Given the description of an element on the screen output the (x, y) to click on. 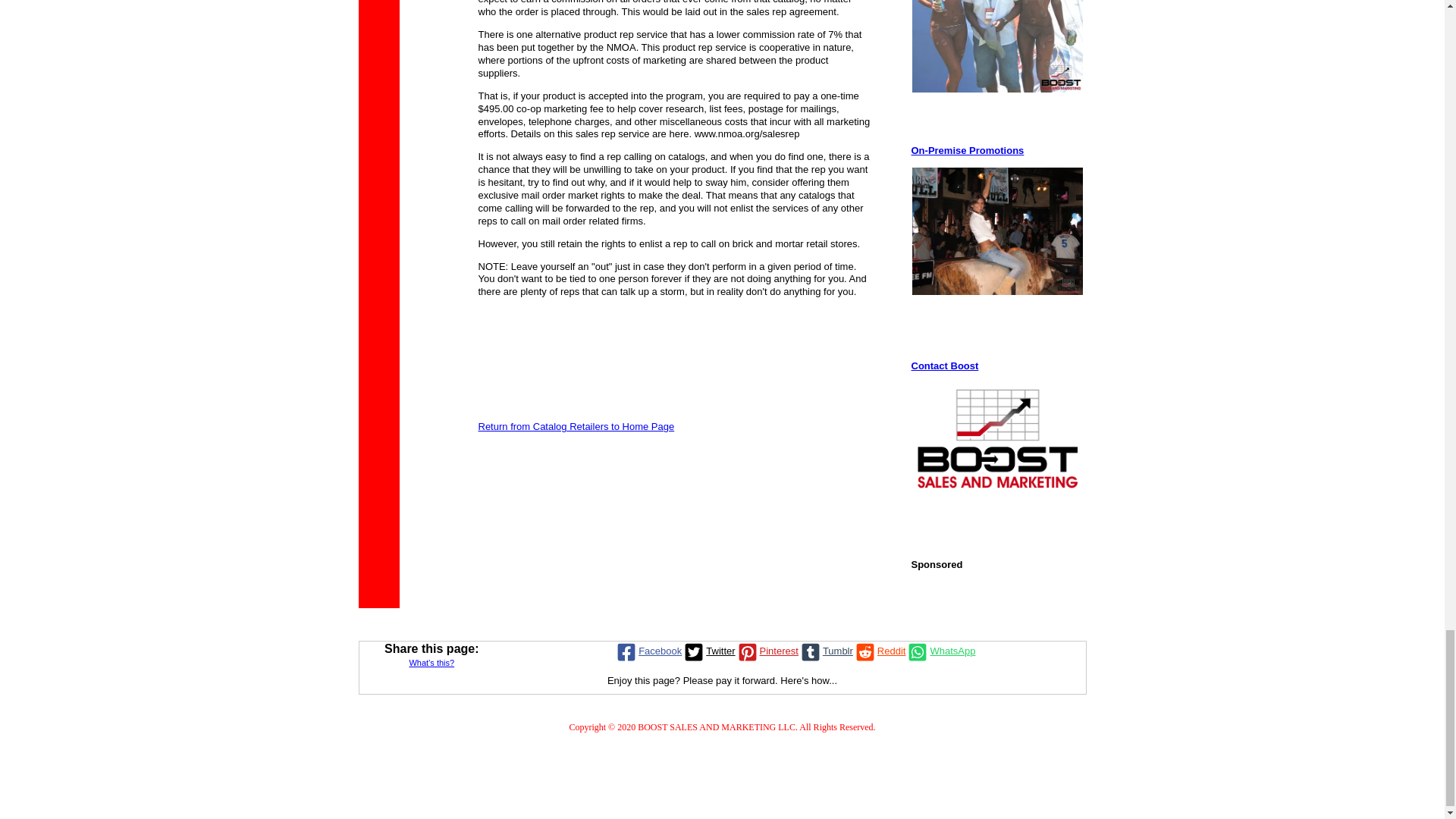
Return from Catalog Retailers to Home Page (575, 426)
